Given the description of an element on the screen output the (x, y) to click on. 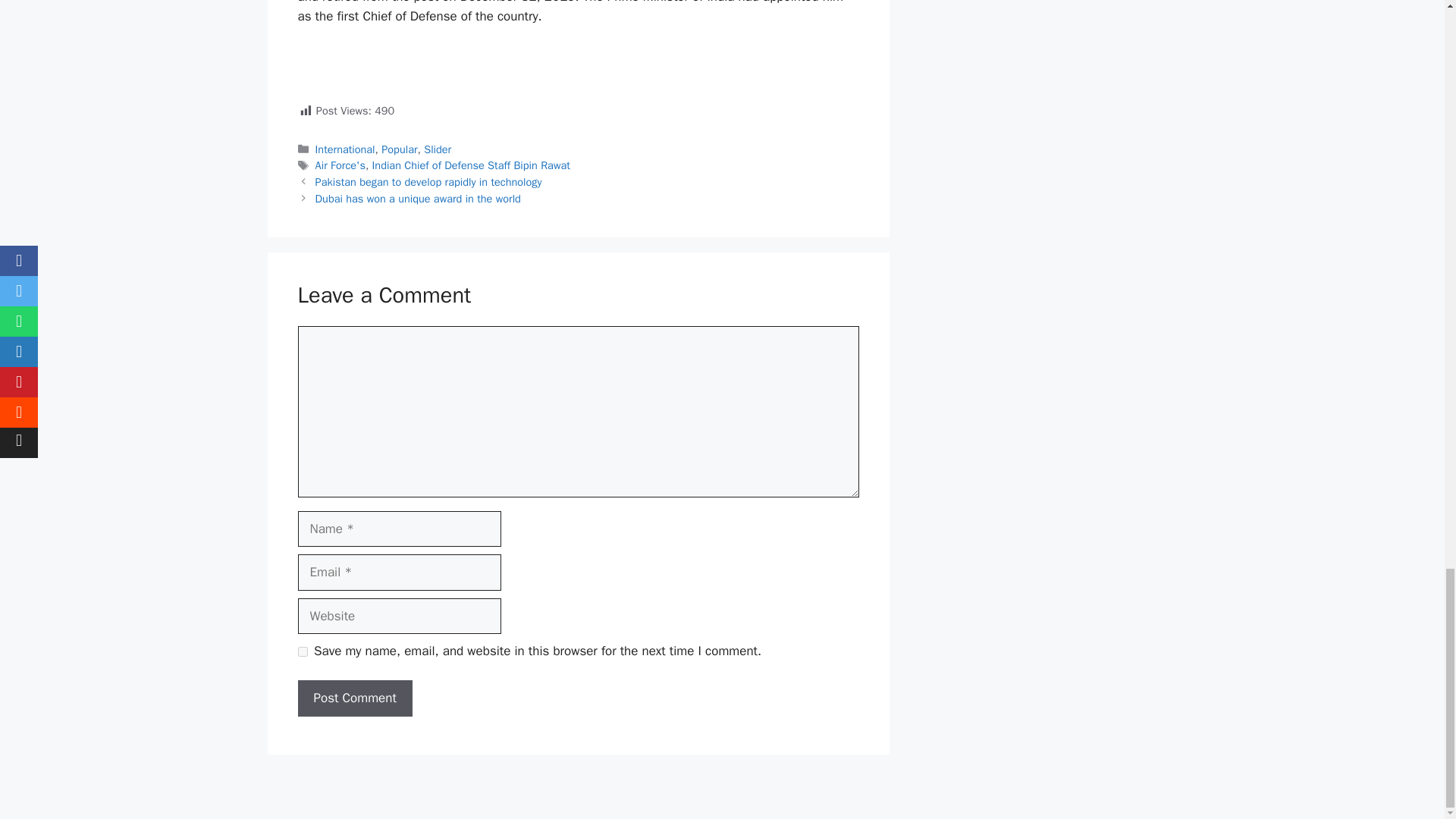
Slider (437, 149)
Air Force's (340, 164)
International (345, 149)
Dubai has won a unique award in the world (418, 198)
Popular (398, 149)
Post Comment (354, 698)
Indian Chief of Defense Staff Bipin Rawat (471, 164)
Pakistan began to develop rapidly in technology (428, 182)
yes (302, 651)
Post Comment (354, 698)
